Given the description of an element on the screen output the (x, y) to click on. 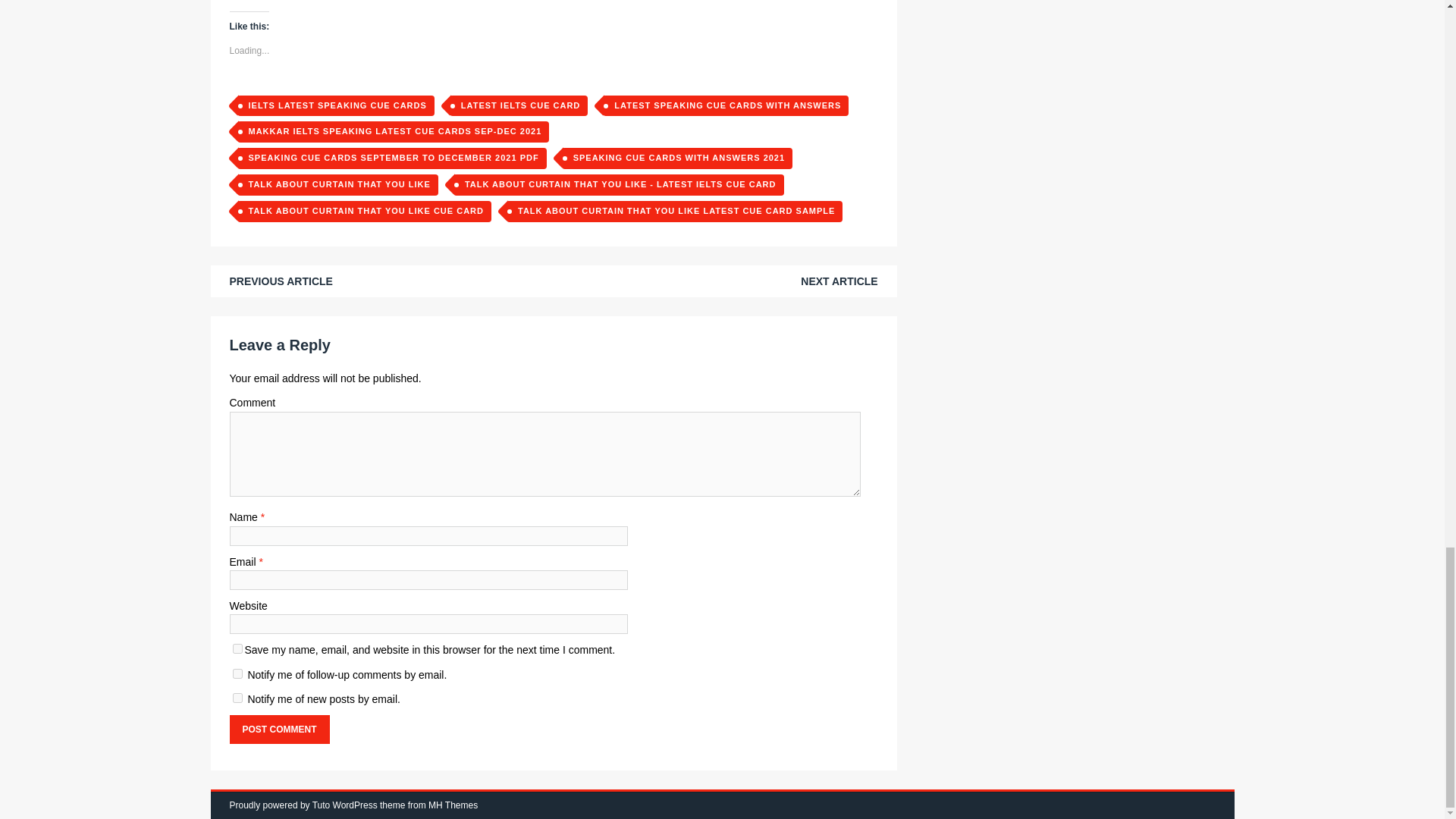
subscribe (236, 673)
subscribe (236, 697)
yes (236, 648)
Post Comment (278, 728)
